Given the description of an element on the screen output the (x, y) to click on. 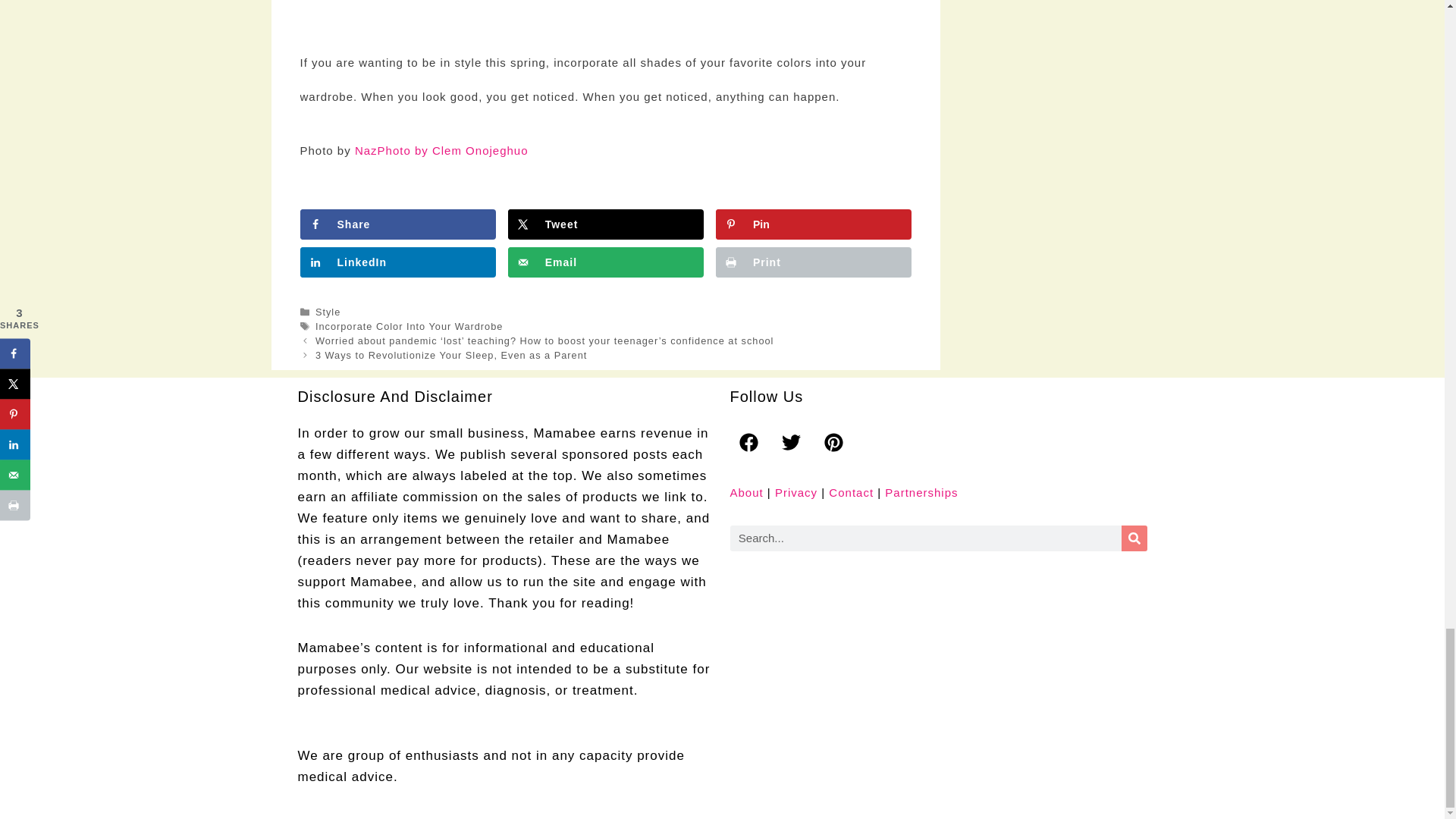
Share on LinkedIn (397, 262)
Share on X (605, 224)
Print this webpage (813, 262)
Save to Pinterest (813, 224)
Send over email (605, 262)
Share on Facebook (397, 224)
